Given the description of an element on the screen output the (x, y) to click on. 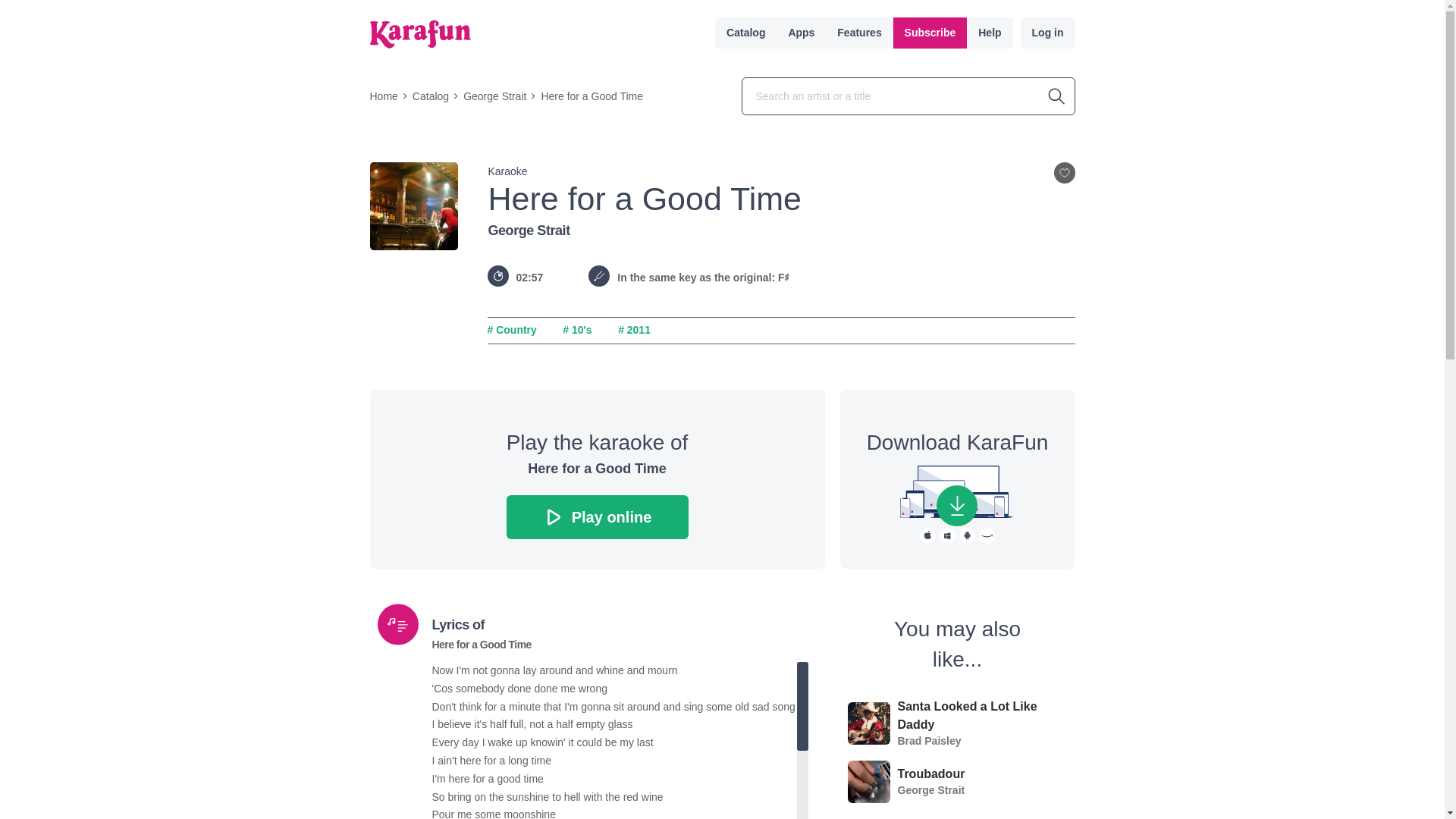
Download KaraFun (956, 505)
Log in (1047, 32)
I ain't here for a long time  (614, 761)
Santa Looked a Lot Like Daddy (982, 714)
Help (988, 32)
Here for a Good Time karaoke - George Strait (597, 516)
Play online (597, 516)
Apps (800, 32)
So bring on the sunshine to hell with the red wine  (614, 797)
Every day I wake up knowin' it could be my last  (614, 742)
Brad Paisley (929, 740)
Back to home page (419, 33)
Troubadour (931, 773)
Add to favorites (1064, 172)
I'm here for a good time  (614, 779)
